Given the description of an element on the screen output the (x, y) to click on. 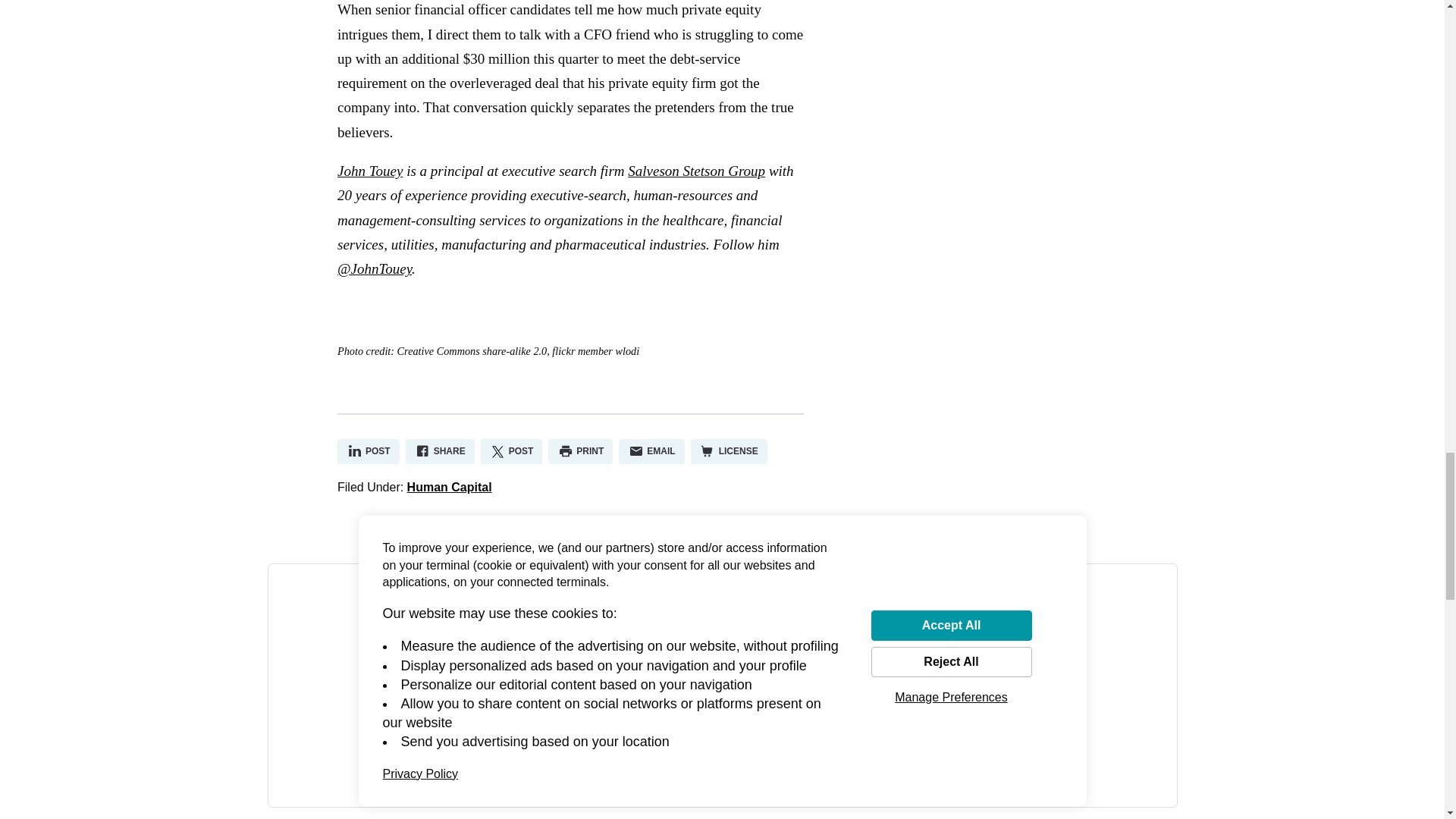
Salveson Stetson Group (696, 170)
John Touey (370, 170)
POST (367, 451)
